Given the description of an element on the screen output the (x, y) to click on. 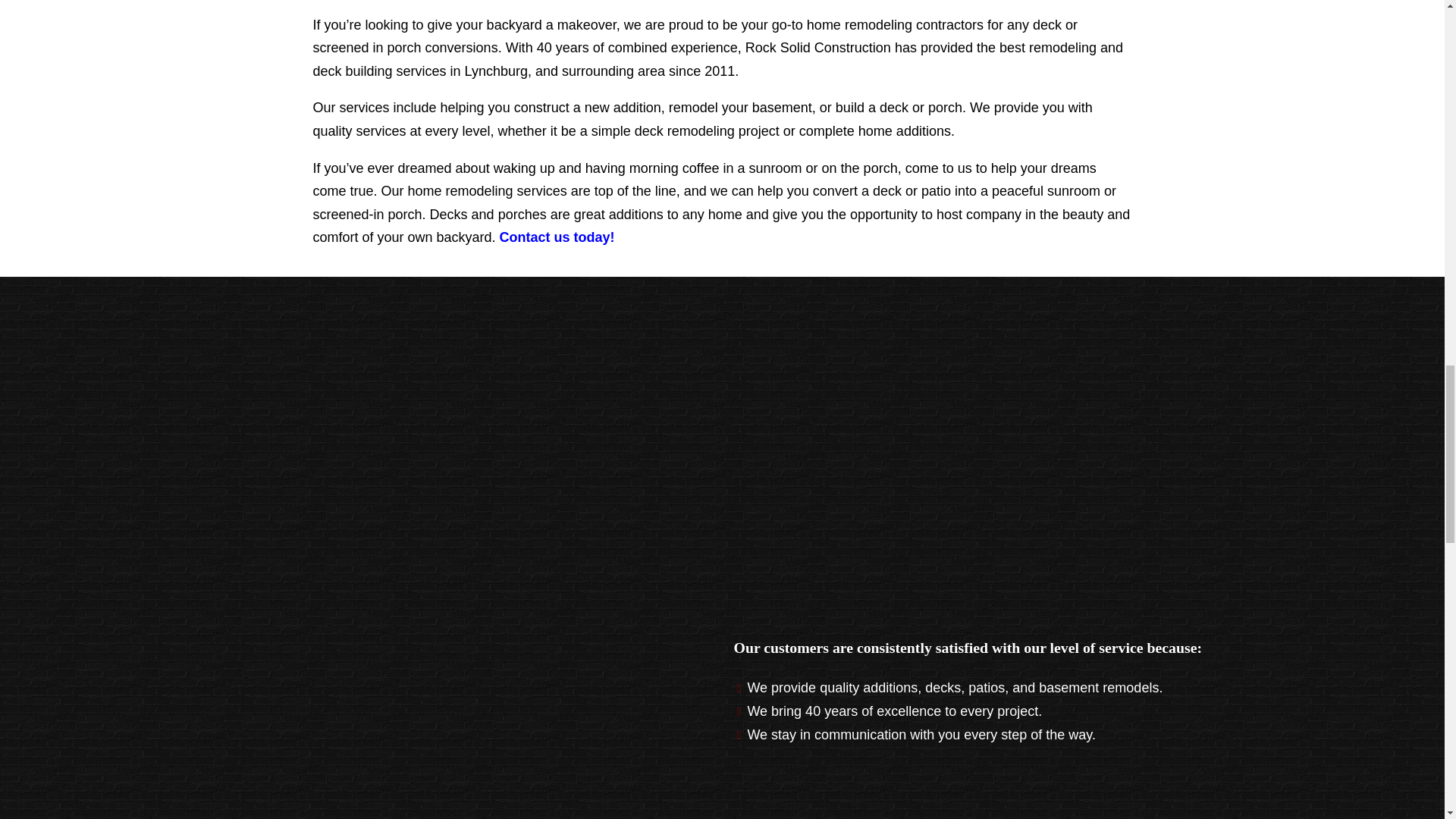
home additions (907, 130)
home additions. (907, 130)
contact us (556, 237)
Contact us today! (556, 237)
